Given the description of an element on the screen output the (x, y) to click on. 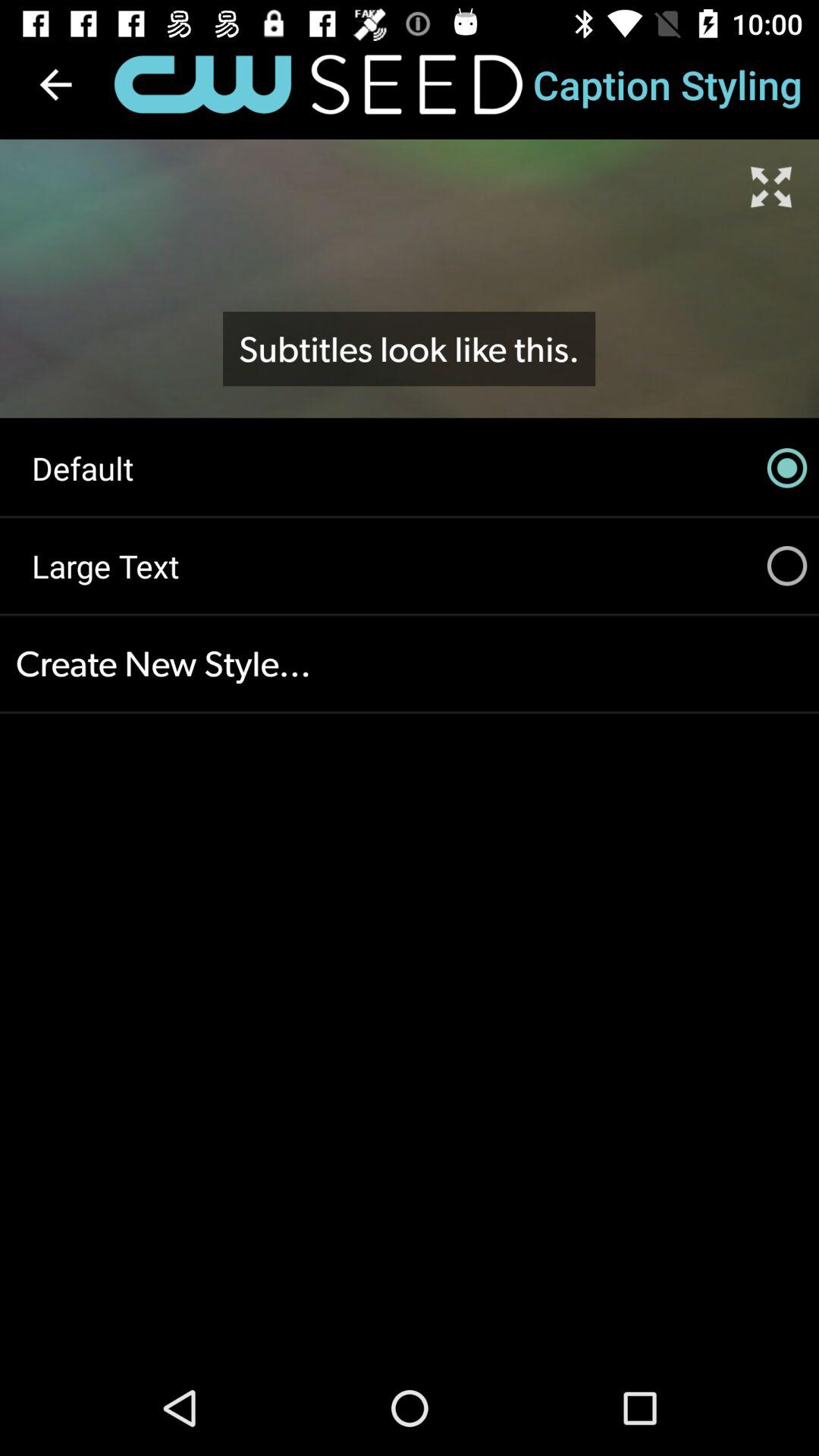
tap item above default icon (771, 186)
